Given the description of an element on the screen output the (x, y) to click on. 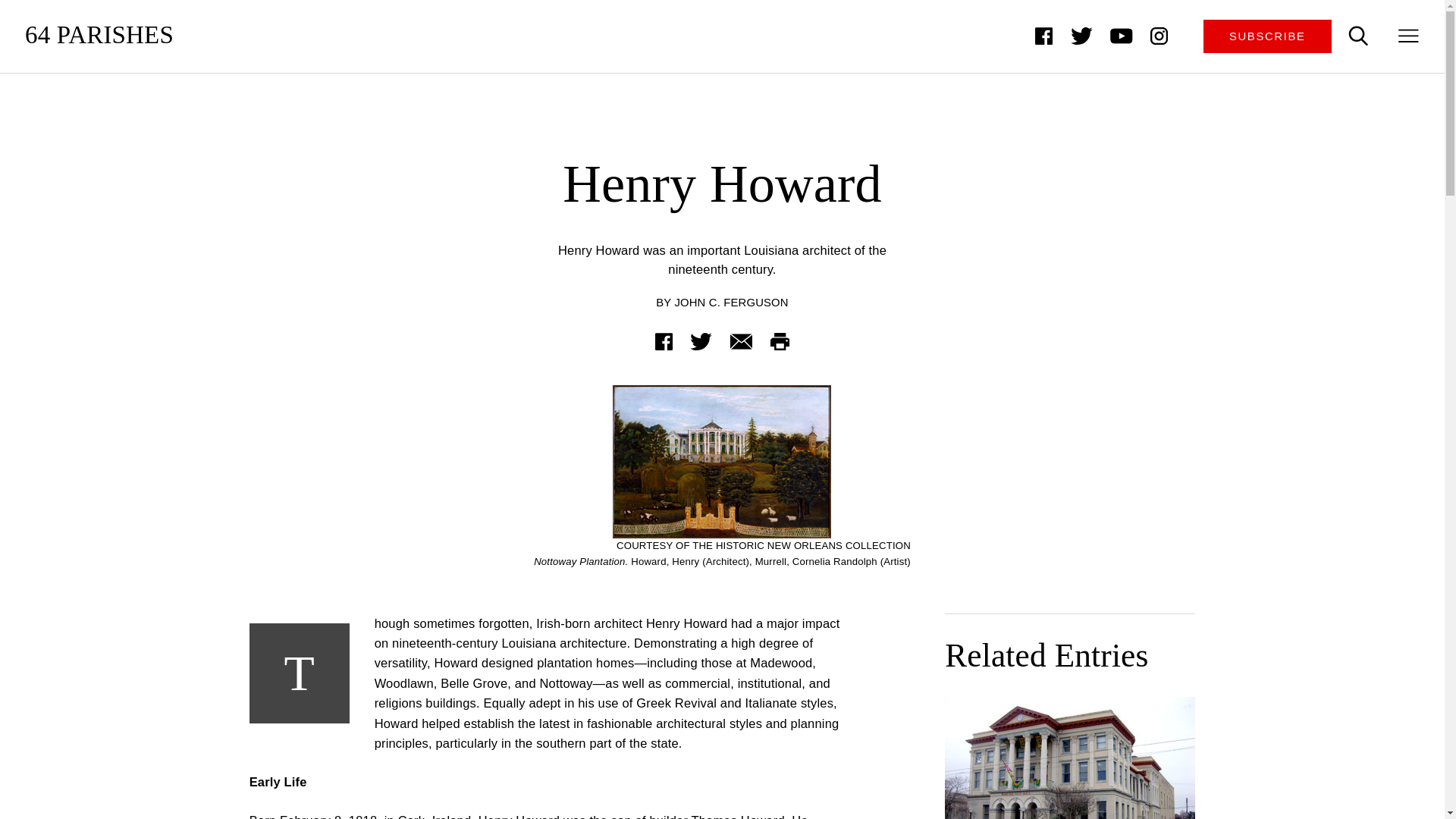
Email (740, 340)
Follow us on YouTube (1121, 36)
MENU (1409, 35)
SEARCH (1358, 35)
64 PARISHES (98, 35)
Share via Email (740, 340)
64 Parishes Home Page (98, 35)
Twitter (1081, 36)
Print (779, 340)
Share via Twitter (700, 340)
